Given the description of an element on the screen output the (x, y) to click on. 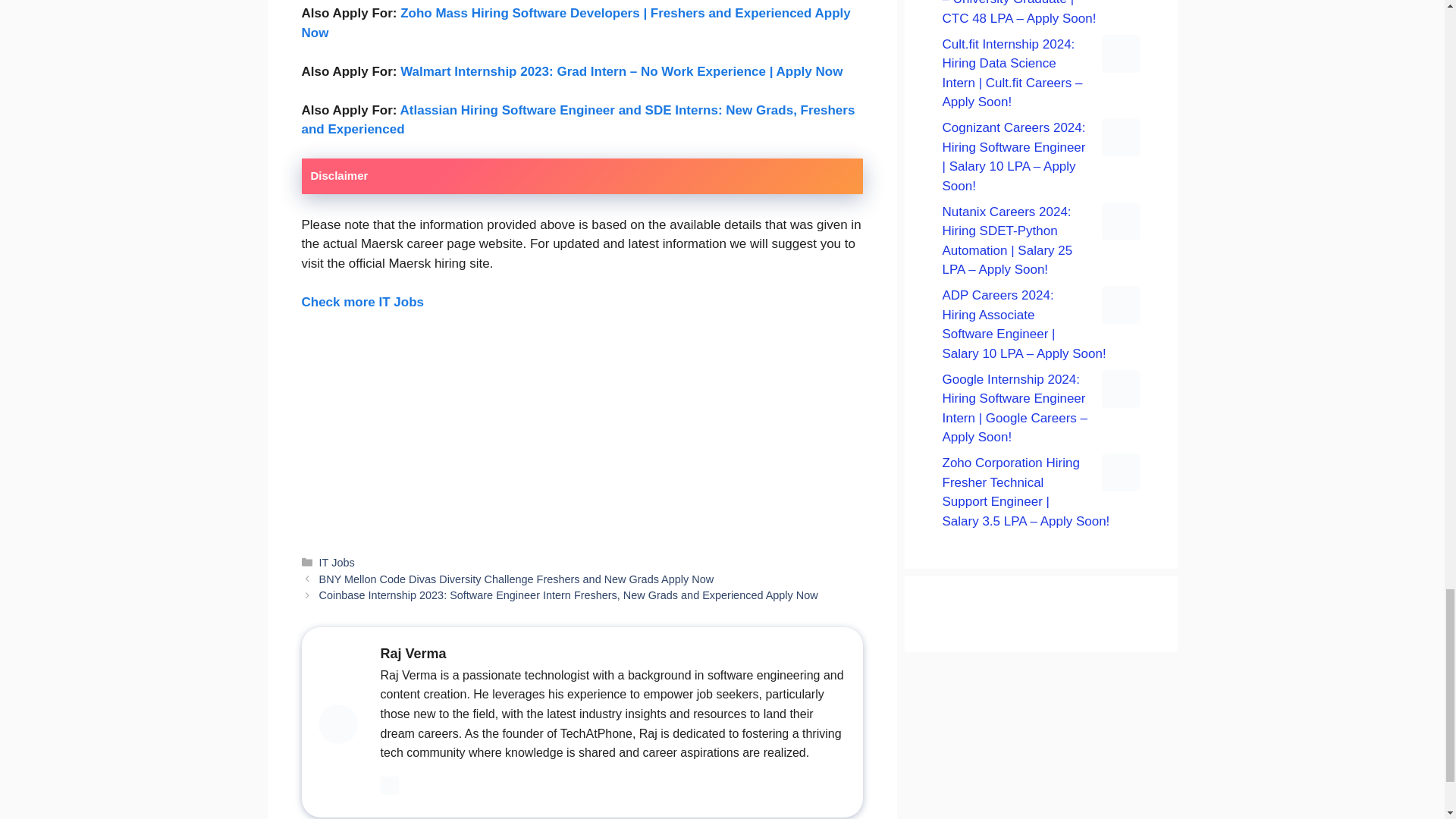
IT Jobs (336, 562)
Check more IT Jobs (363, 301)
